Given the description of an element on the screen output the (x, y) to click on. 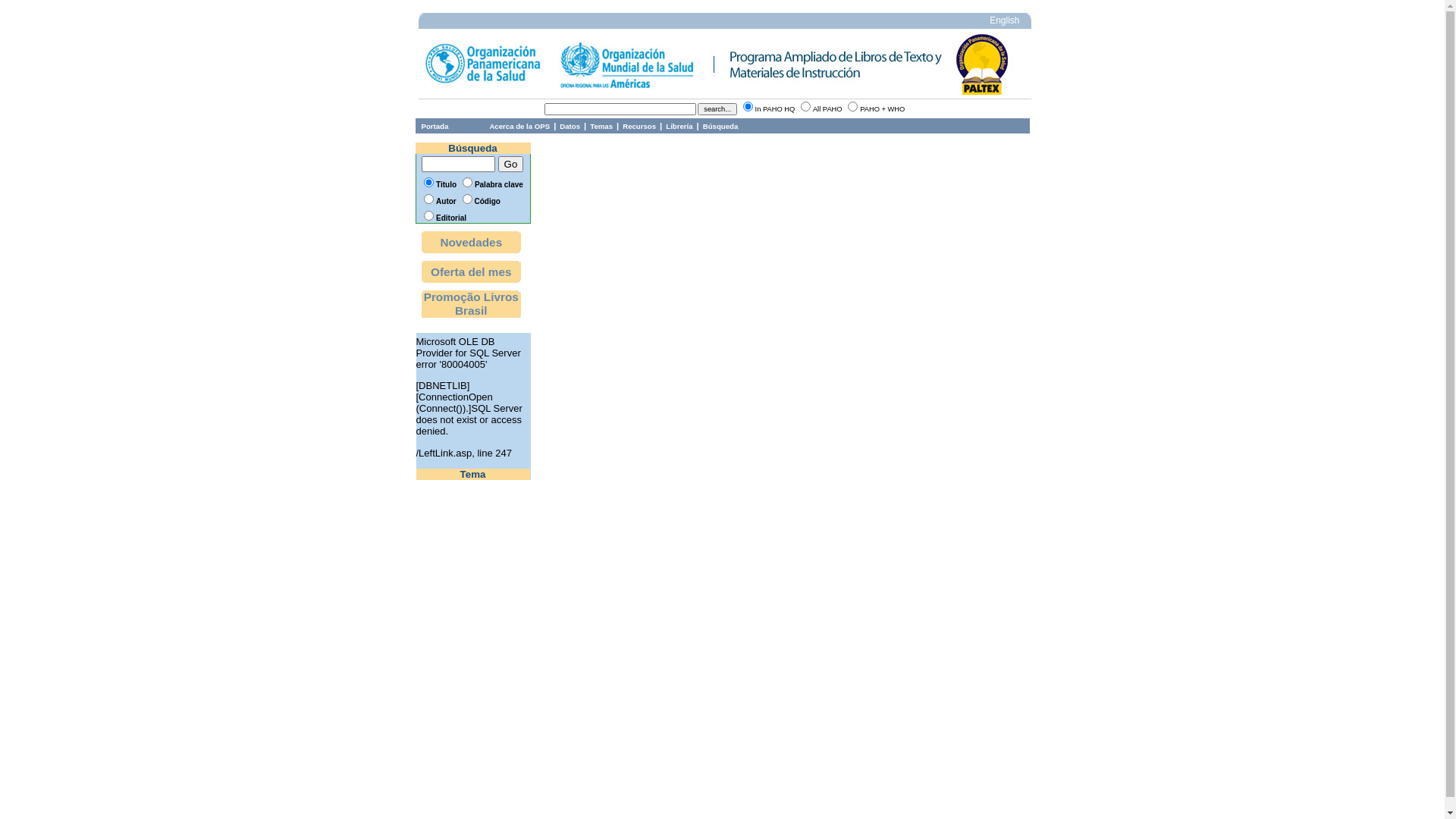
English Element type: text (1004, 20)
Acerca de la OPS Element type: text (519, 125)
on Element type: text (805, 106)
Go Element type: text (511, 164)
Oferta del mes Element type: text (470, 271)
search... Element type: text (717, 109)
on Element type: text (852, 106)
Recursos Element type: text (638, 125)
Temas Element type: text (600, 125)
Datos Element type: text (569, 125)
Portada Element type: text (434, 125)
on Element type: text (748, 106)
Novedades Element type: text (470, 242)
